Given the description of an element on the screen output the (x, y) to click on. 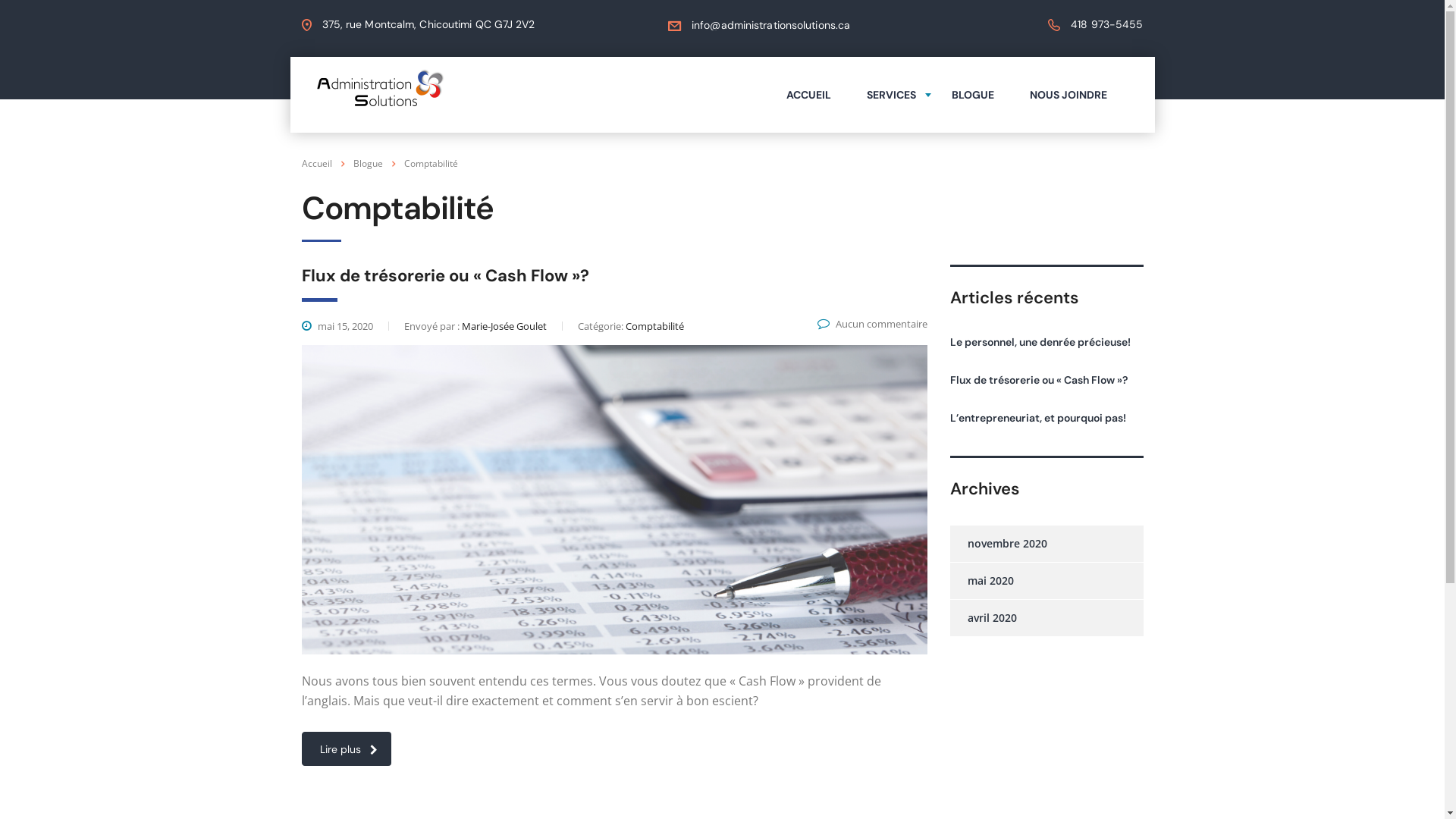
Lire plus Element type: text (346, 748)
avril 2020 Element type: text (982, 617)
mai 2020 Element type: text (981, 580)
Accueil Element type: text (316, 162)
Blogue Element type: text (367, 162)
NOUS JOINDRE Element type: text (1067, 93)
BLOGUE Element type: text (972, 93)
novembre 2020 Element type: text (997, 543)
ACCUEIL Element type: text (808, 93)
Aucun commentaire Element type: text (872, 323)
SERVICES Element type: text (891, 93)
